Given the description of an element on the screen output the (x, y) to click on. 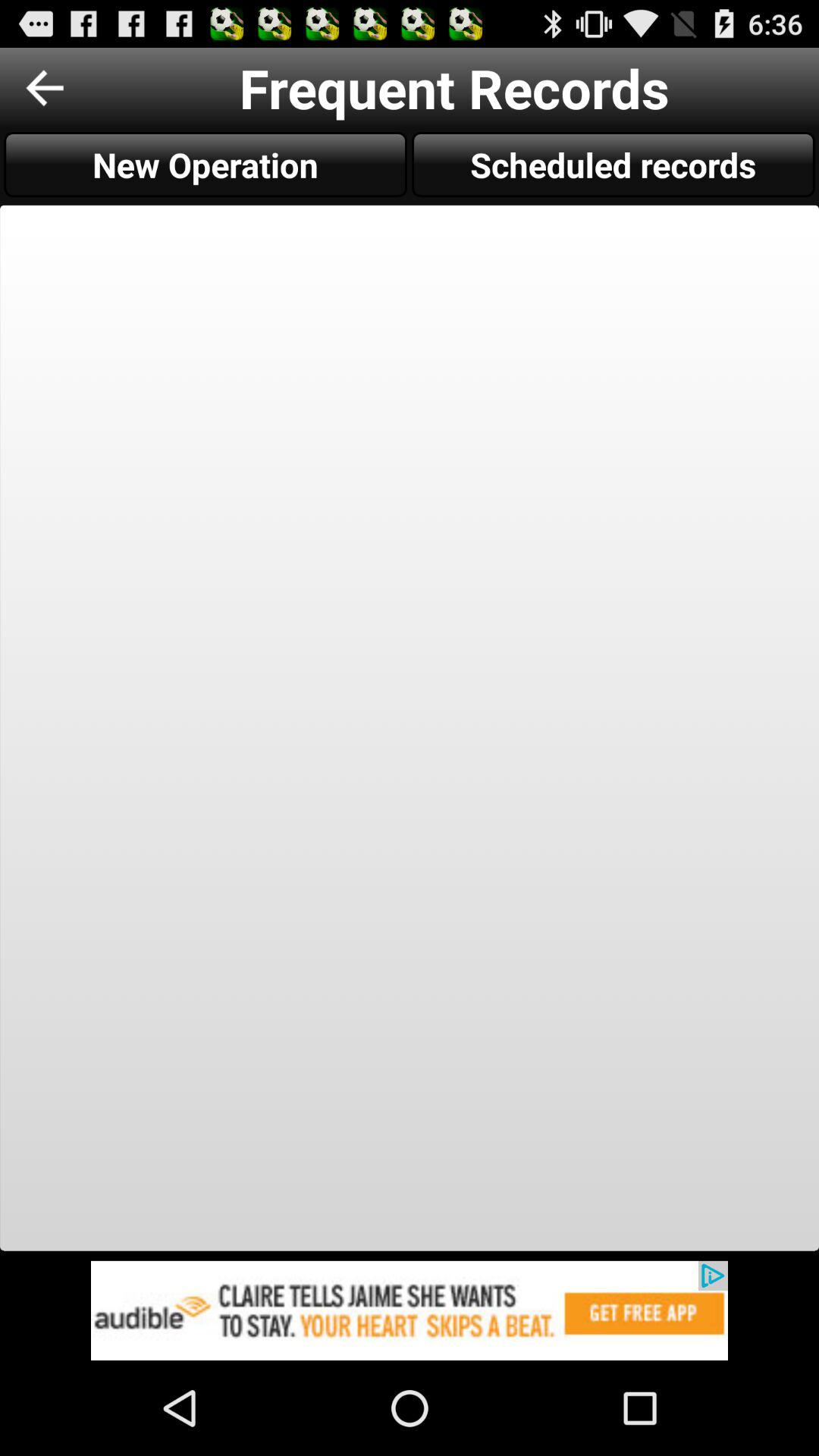
go back (44, 87)
